Given the description of an element on the screen output the (x, y) to click on. 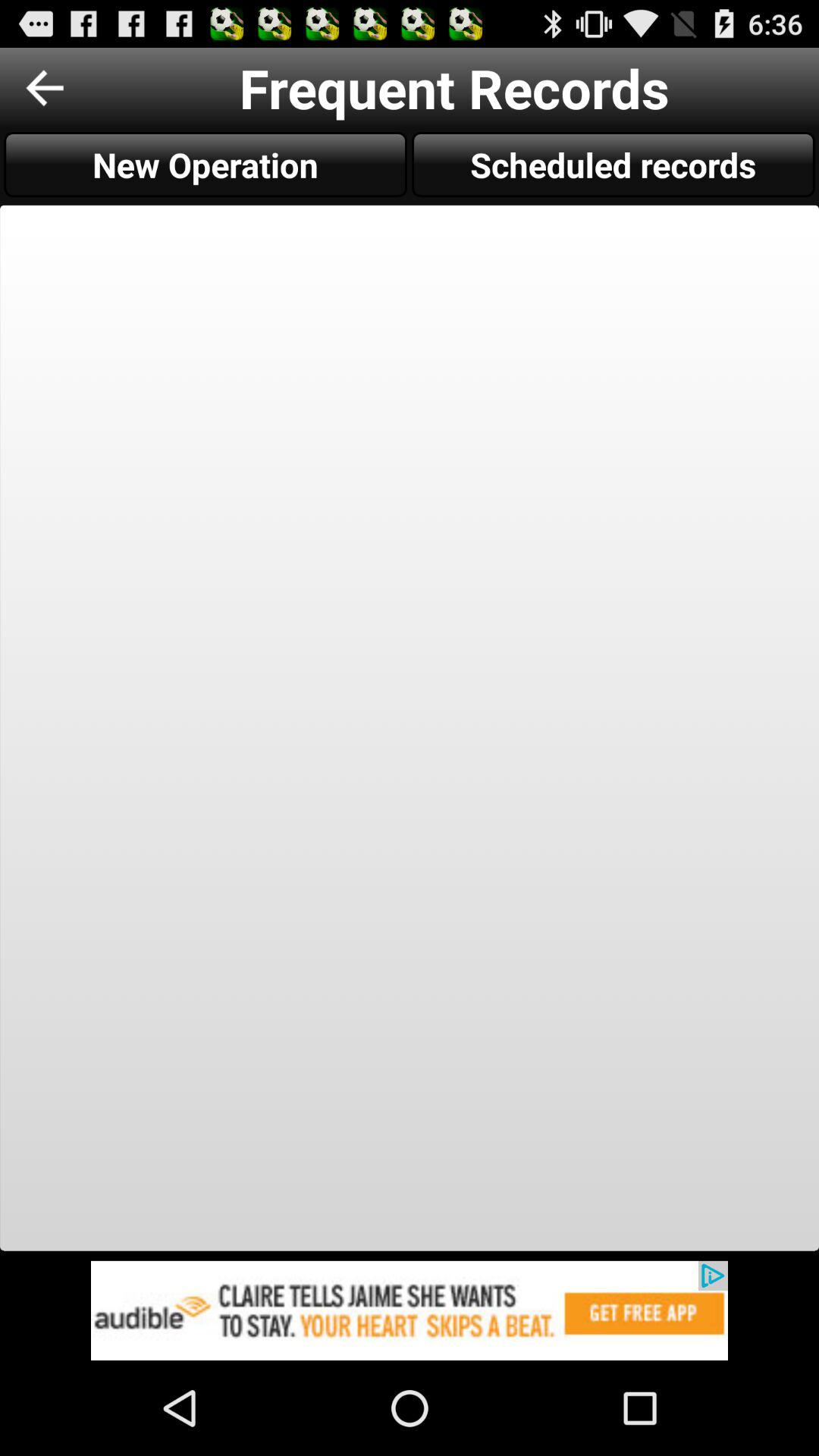
go back (44, 87)
